Given the description of an element on the screen output the (x, y) to click on. 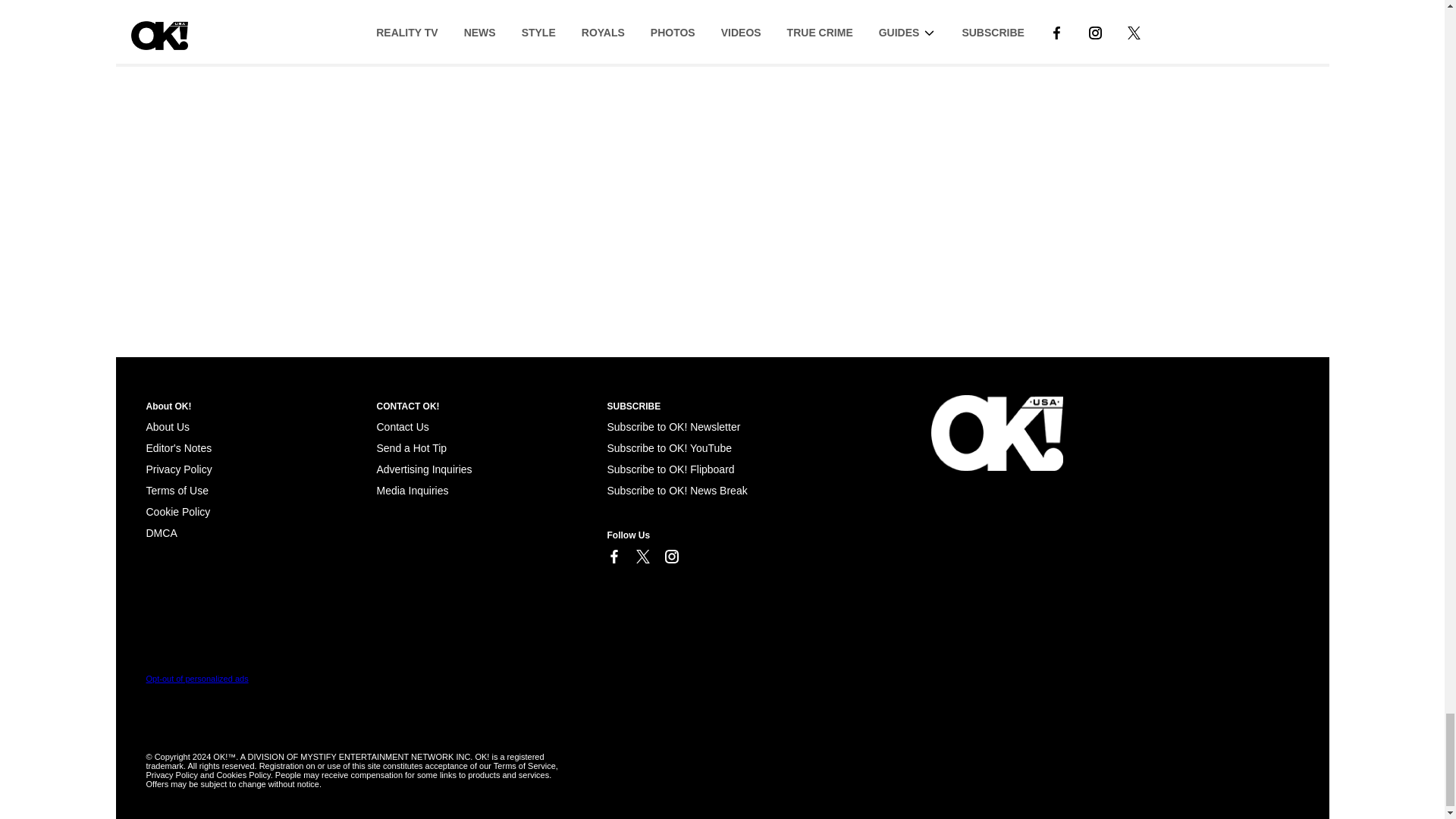
Send a Hot Tip (410, 448)
About Us (167, 426)
Terms of Use (176, 490)
Link to Facebook (613, 556)
Cookie Policy (177, 511)
Privacy Policy (178, 469)
Cookie Policy (160, 532)
Link to Instagram (670, 556)
Link to X (641, 556)
Contact Us (401, 426)
